Given the description of an element on the screen output the (x, y) to click on. 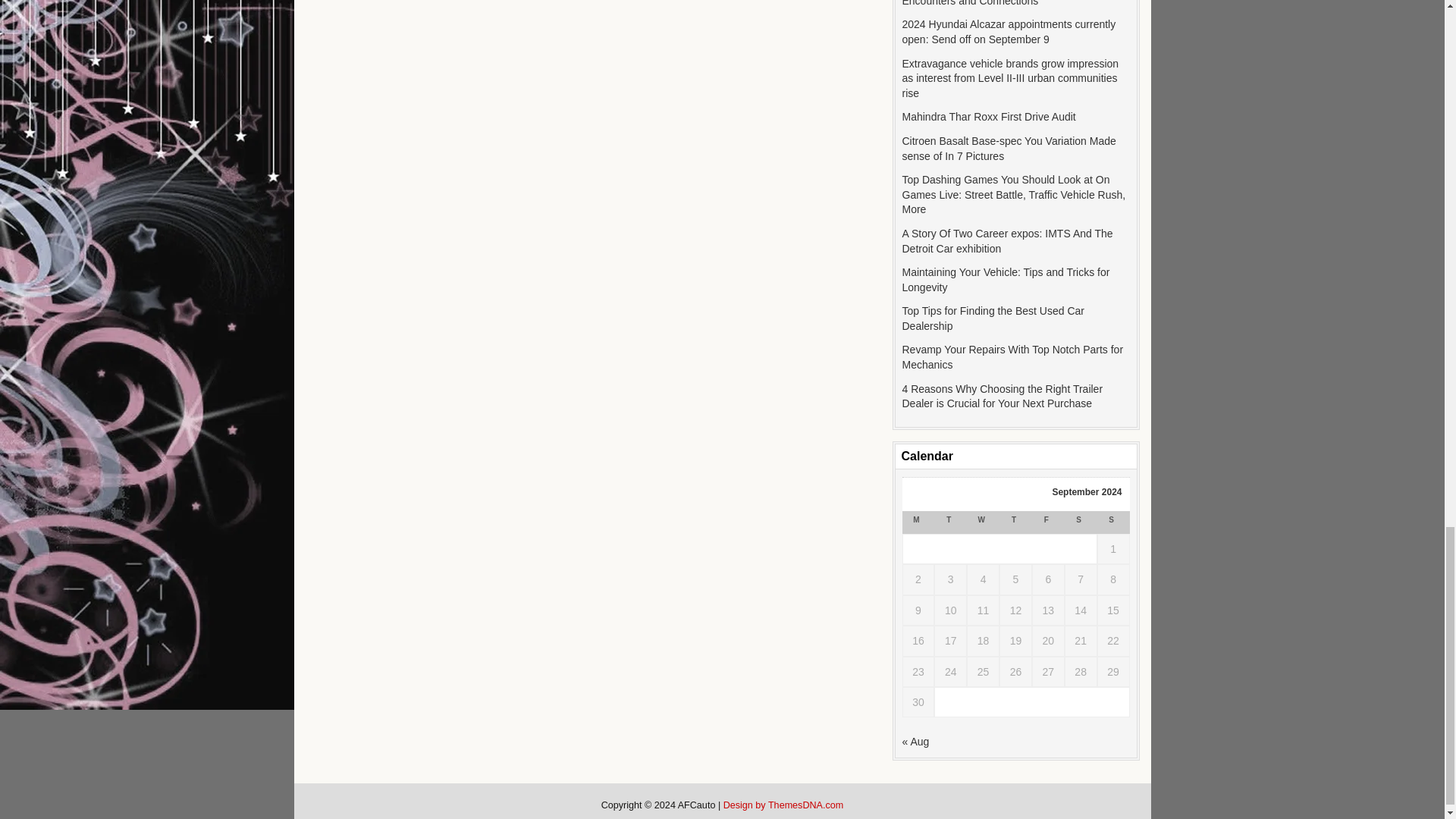
Monday (918, 522)
Wednesday (982, 522)
Friday (1048, 522)
Tuesday (950, 522)
Sunday (1113, 522)
Thursday (1015, 522)
Saturday (1080, 522)
